Given the description of an element on the screen output the (x, y) to click on. 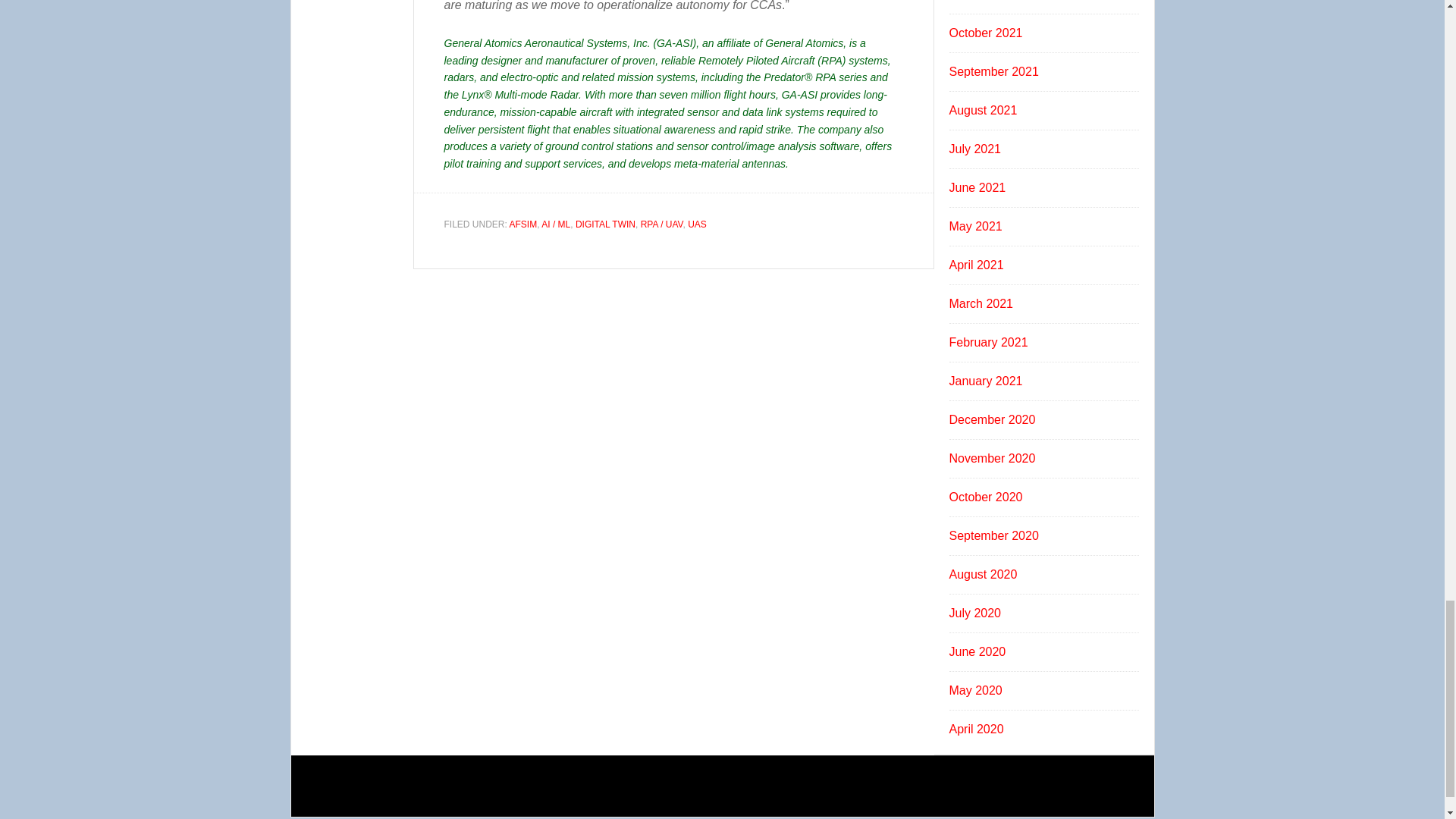
DIGITAL TWIN (604, 224)
AFSIM (523, 224)
UAS (696, 224)
